Given the description of an element on the screen output the (x, y) to click on. 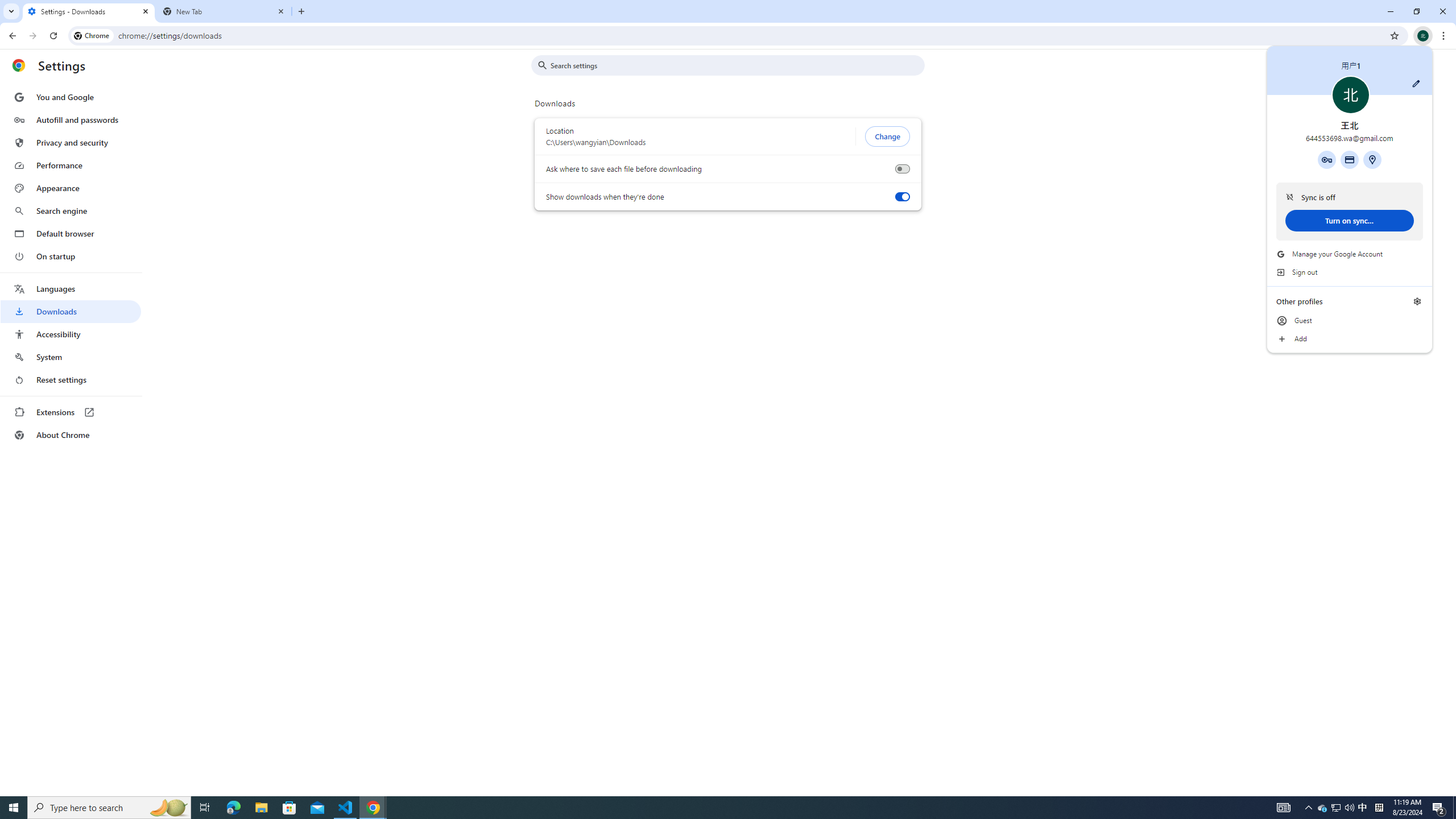
Search engine (70, 210)
Appearance (70, 187)
Start (13, 807)
Tray Input Indicator - Chinese (Simplified, China) (1378, 807)
Visual Studio Code - 1 running window (345, 807)
AutomationID: 4105 (1283, 807)
Google Chrome - 2 running windows (373, 807)
